Given the description of an element on the screen output the (x, y) to click on. 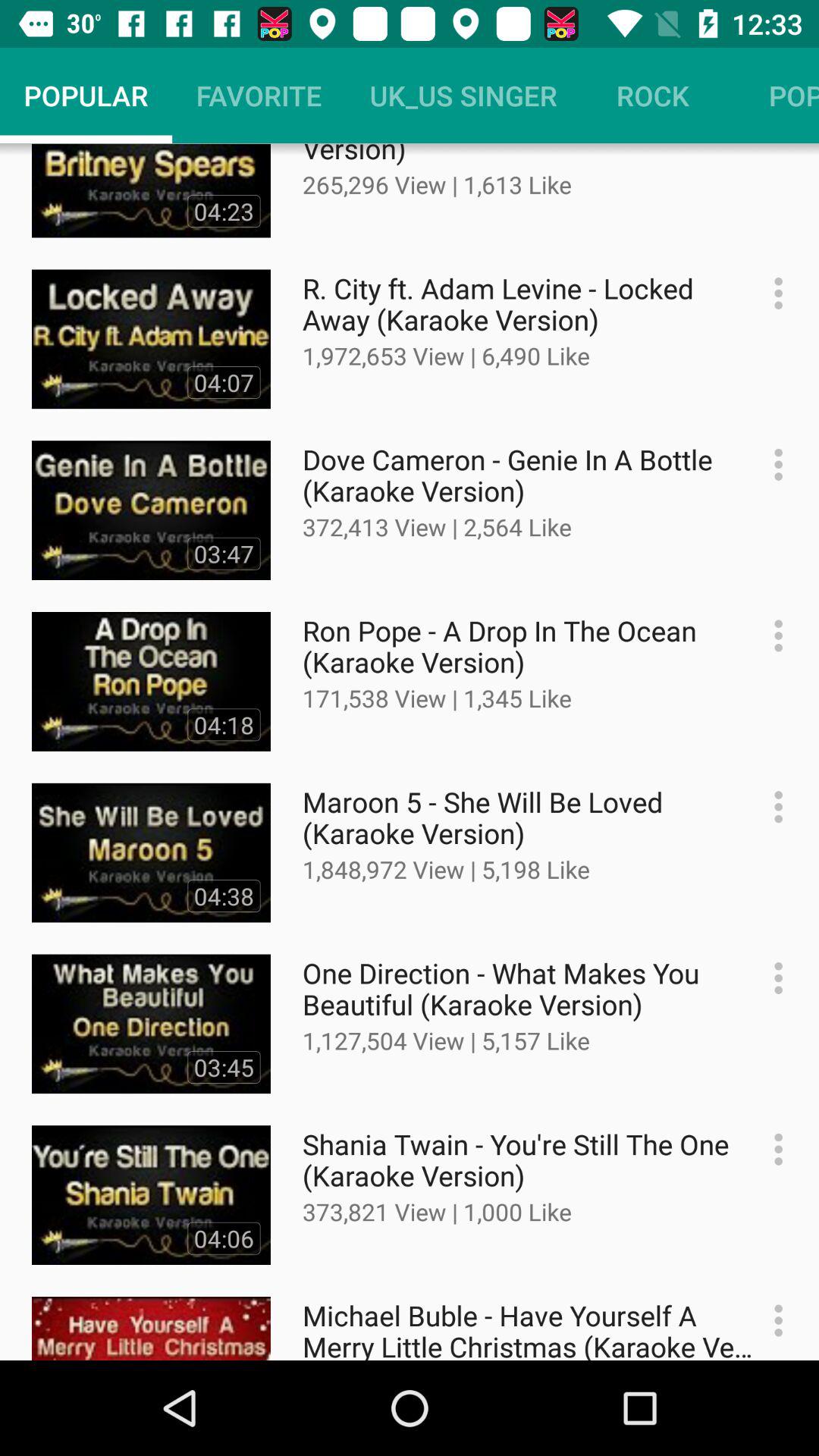
select the option (770, 806)
